Given the description of an element on the screen output the (x, y) to click on. 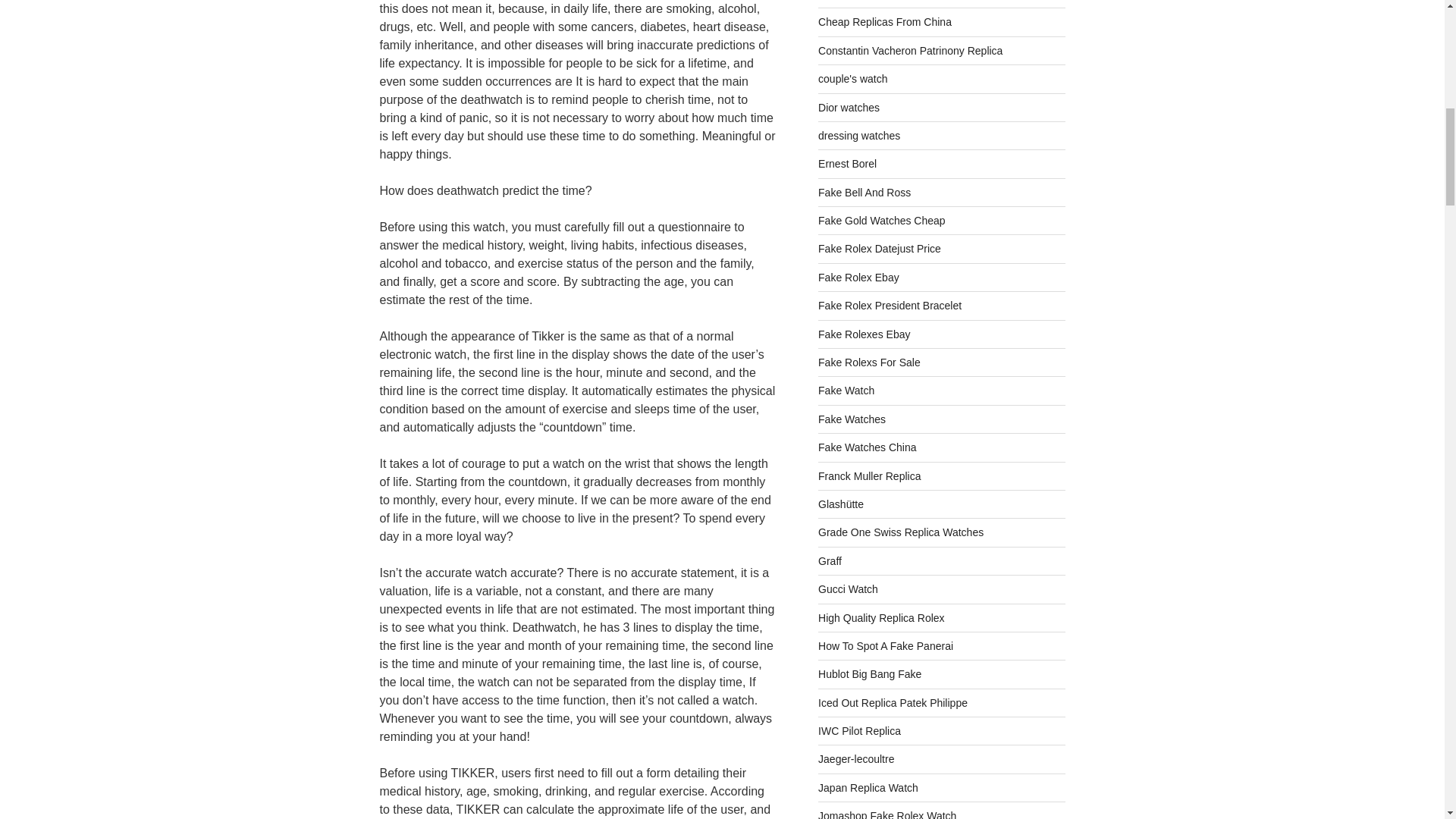
dressing watches (858, 135)
Constantin Vacheron Patrinony Replica (910, 50)
Fake Gold Watches Cheap (881, 220)
Fake Bell And Ross (864, 192)
Dior watches (848, 107)
Ernest Borel (847, 163)
Fake Watch (846, 390)
Cheap Replicas From China (885, 21)
Fake Rolex Ebay (858, 277)
Fake Rolexes Ebay (864, 334)
